Given the description of an element on the screen output the (x, y) to click on. 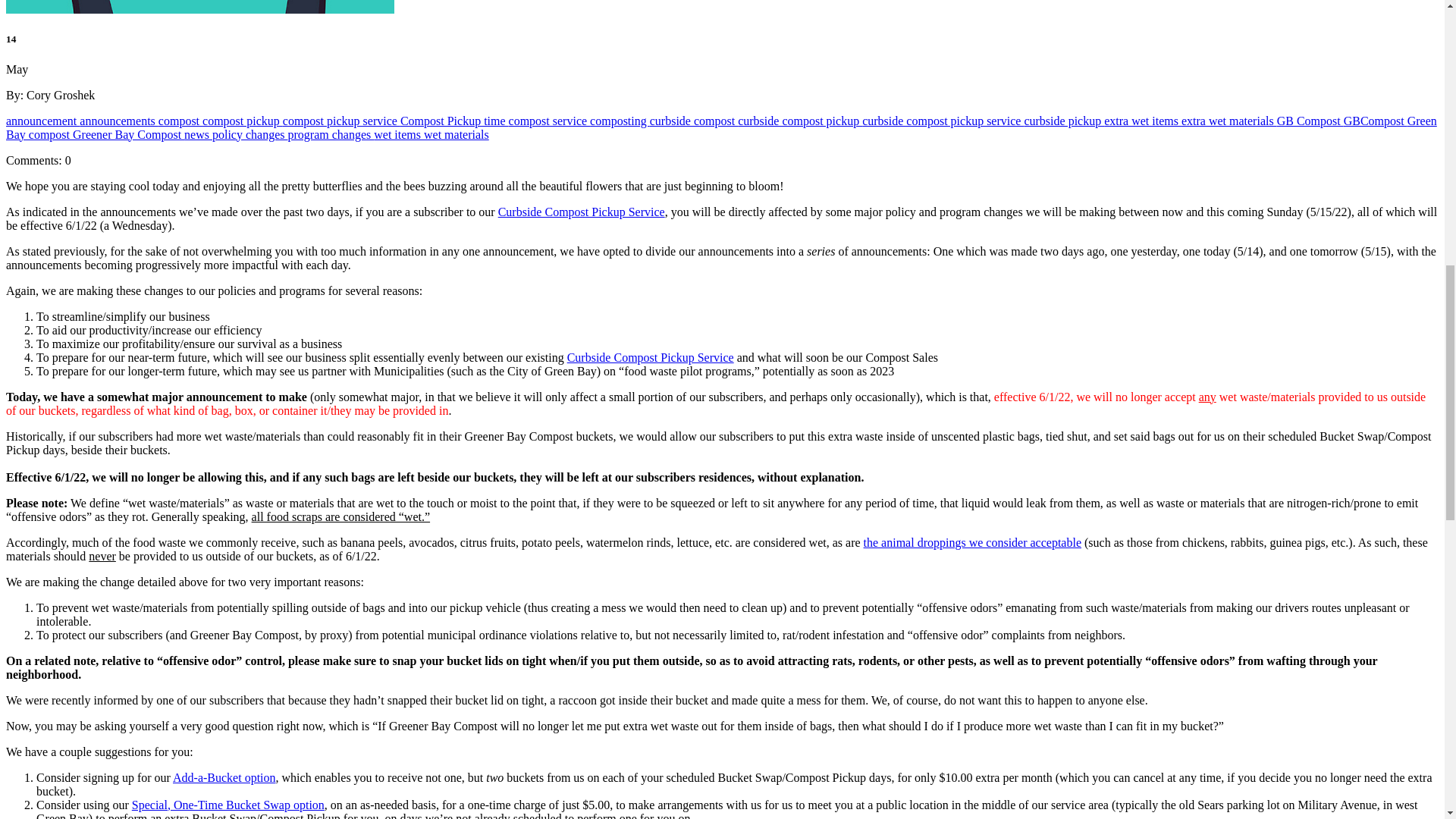
announcement (42, 119)
Compost Pickup time (454, 119)
curbside compost pickup (799, 119)
curbside compost (693, 119)
compost pickup service (341, 119)
composting (619, 119)
compost service (549, 119)
announcements (119, 119)
compost (180, 119)
compost pickup (242, 119)
